Given the description of an element on the screen output the (x, y) to click on. 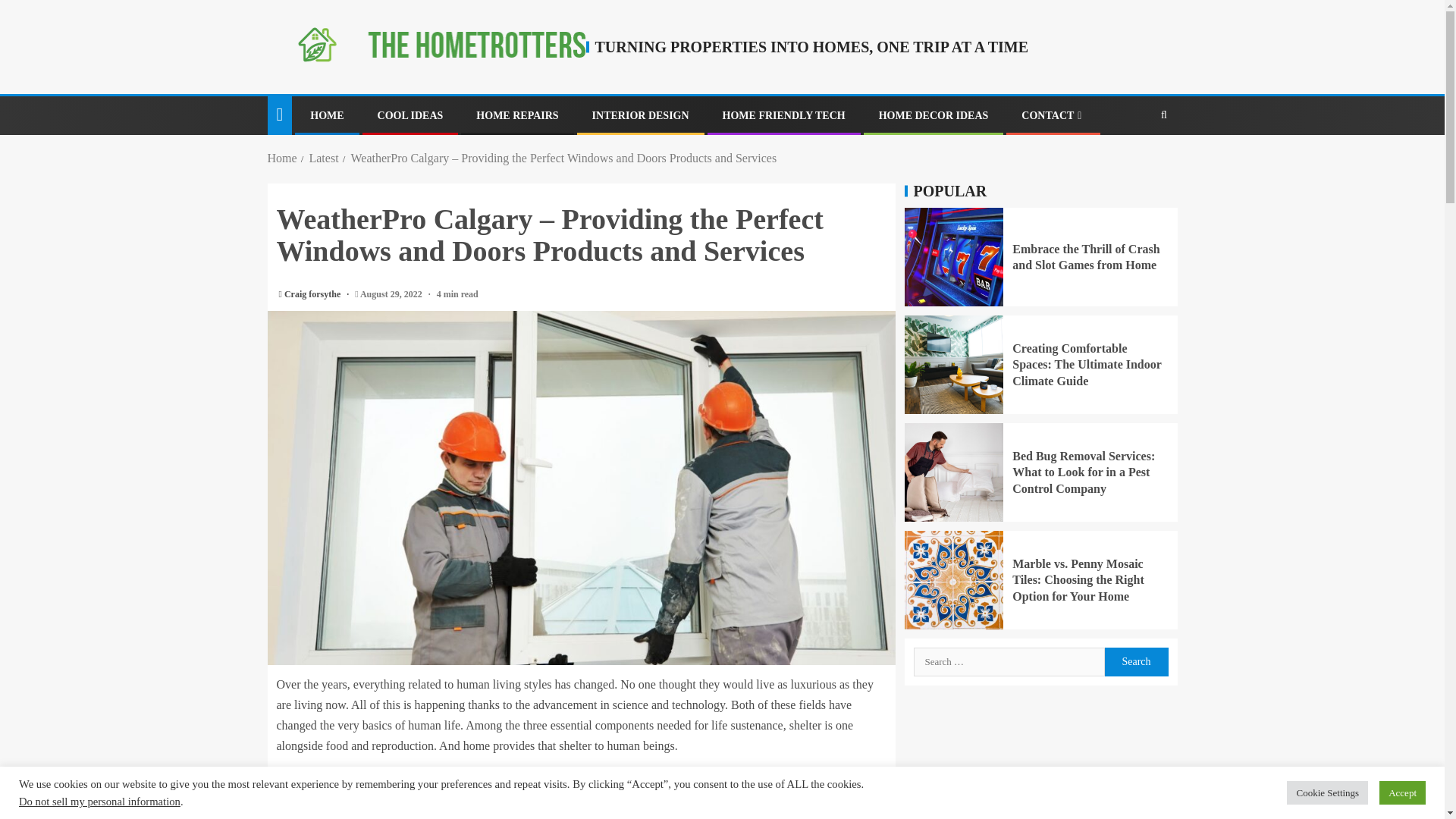
Craig forsythe (312, 294)
Latest (322, 157)
HOME REPAIRS (516, 115)
Search (1135, 661)
Search (1135, 661)
COOL IDEAS (410, 115)
Search (1133, 161)
HOME DECOR IDEAS (933, 115)
Home (281, 157)
HOME (326, 115)
CONTACT (1053, 115)
INTERIOR DESIGN (640, 115)
HOME FRIENDLY TECH (783, 115)
